Given the description of an element on the screen output the (x, y) to click on. 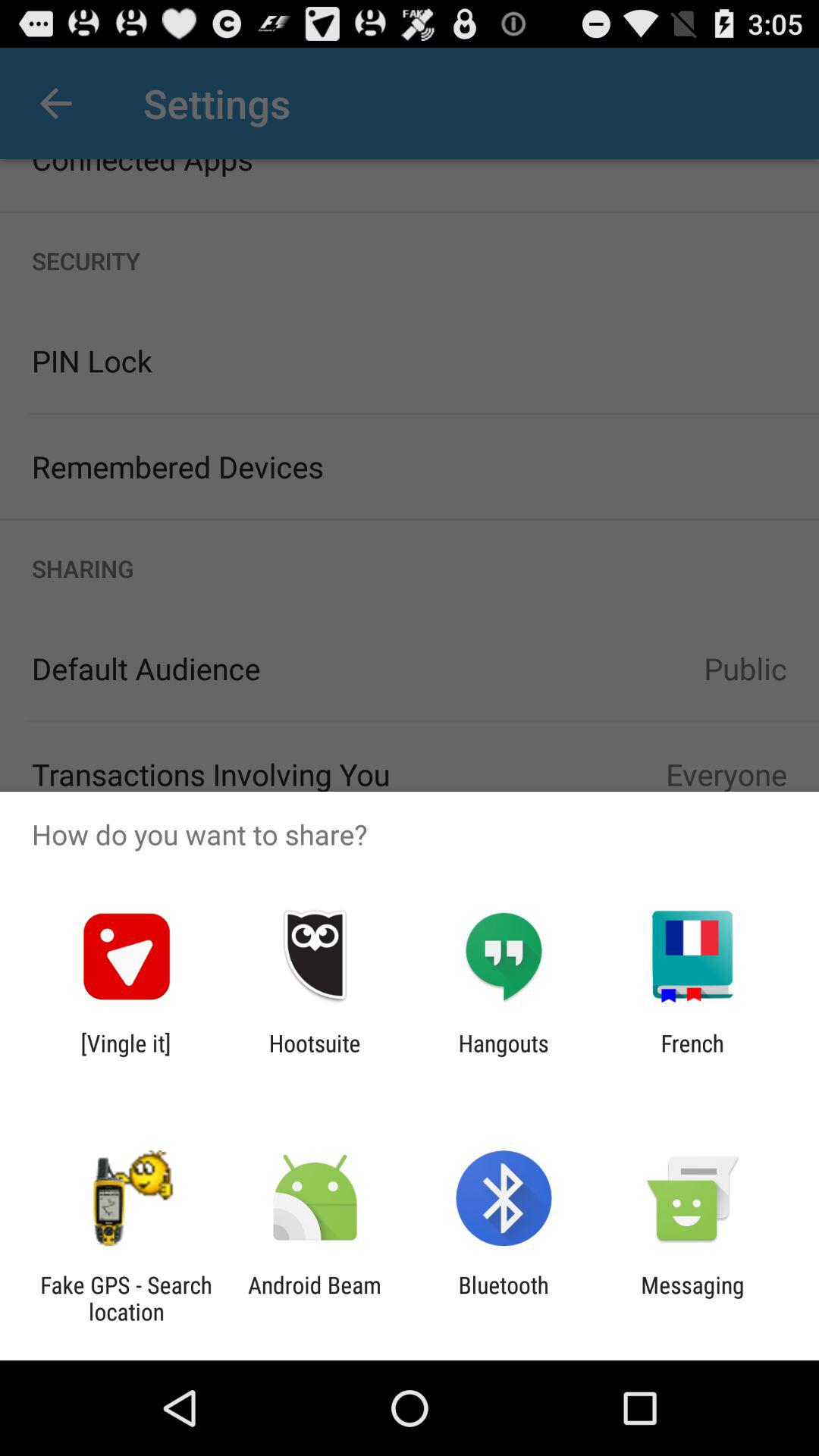
scroll until the fake gps search icon (125, 1298)
